Given the description of an element on the screen output the (x, y) to click on. 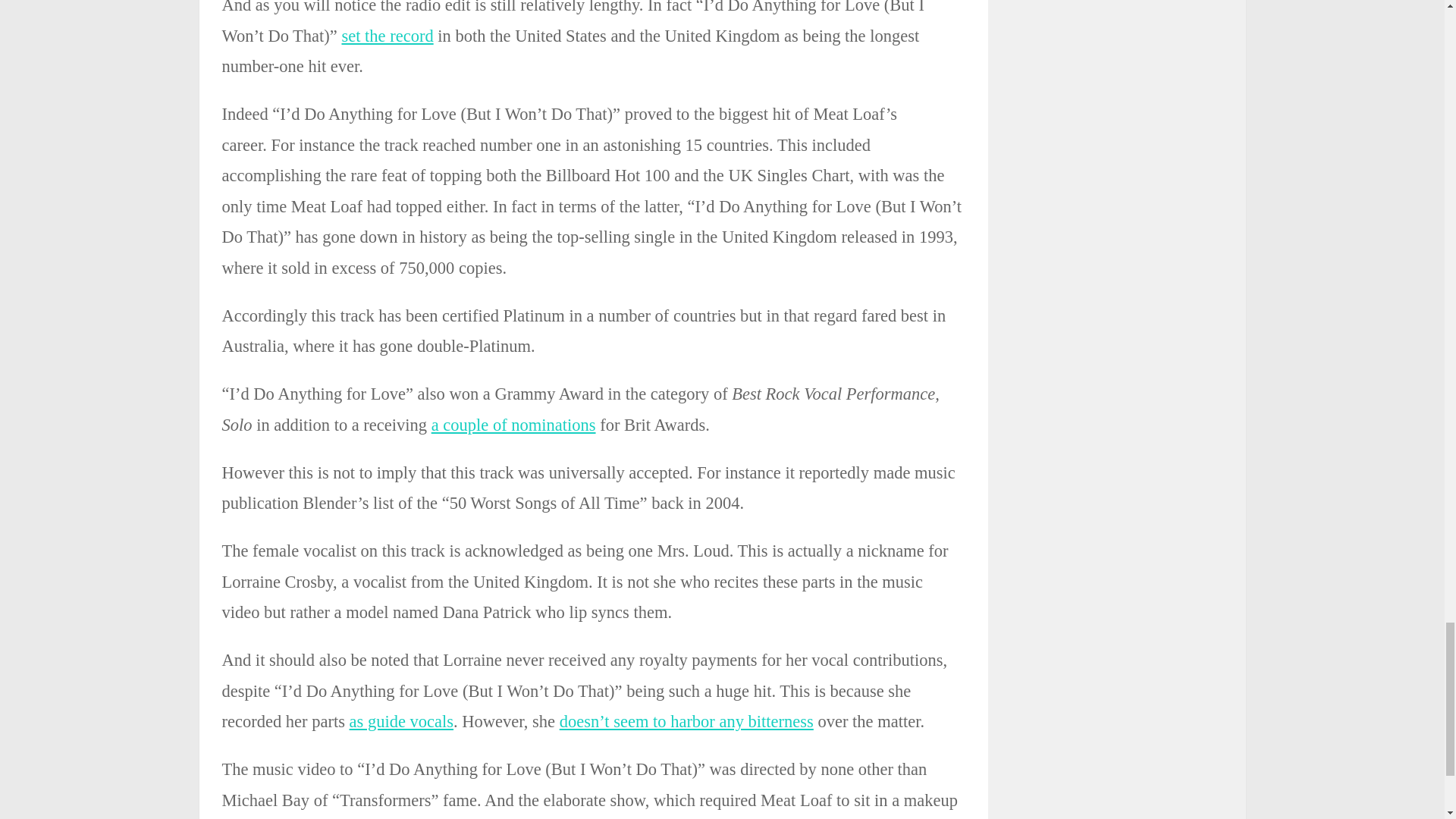
a couple of nominations (512, 424)
set the record (386, 35)
as guide vocals (400, 721)
